Given the description of an element on the screen output the (x, y) to click on. 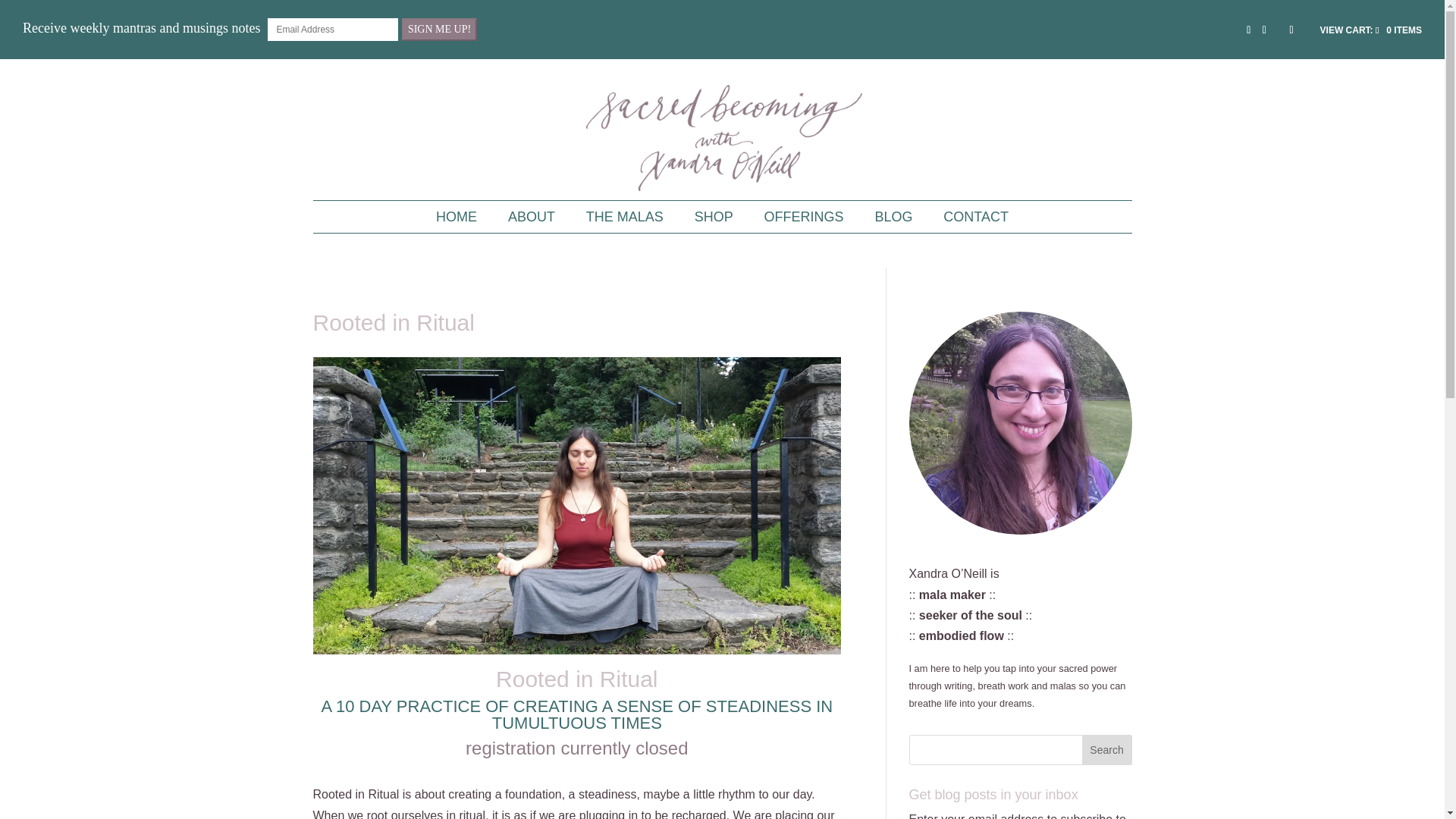
Search (1106, 749)
BLOG (893, 215)
SIGN ME UP! (439, 29)
HOME (456, 215)
OFFERINGS (804, 215)
CONTACT (976, 215)
ABOUT (531, 215)
0 ITEMS (1371, 30)
SHOP (713, 215)
THE MALAS (624, 215)
